Given the description of an element on the screen output the (x, y) to click on. 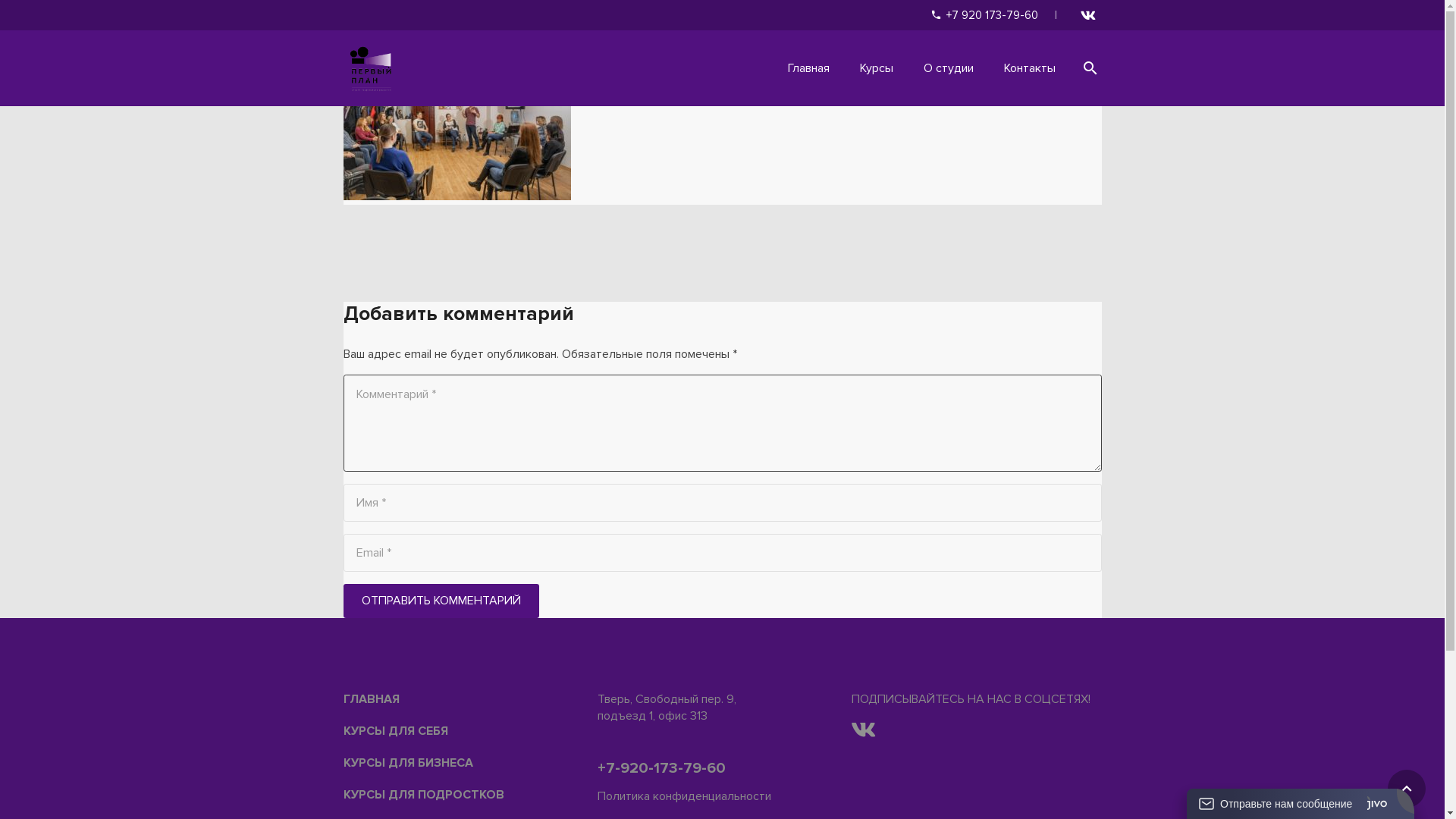
Vkontakte Element type: hover (1087, 14)
+7-920-173-79-60 Element type: text (661, 768)
search Element type: text (1090, 68)
